Given the description of an element on the screen output the (x, y) to click on. 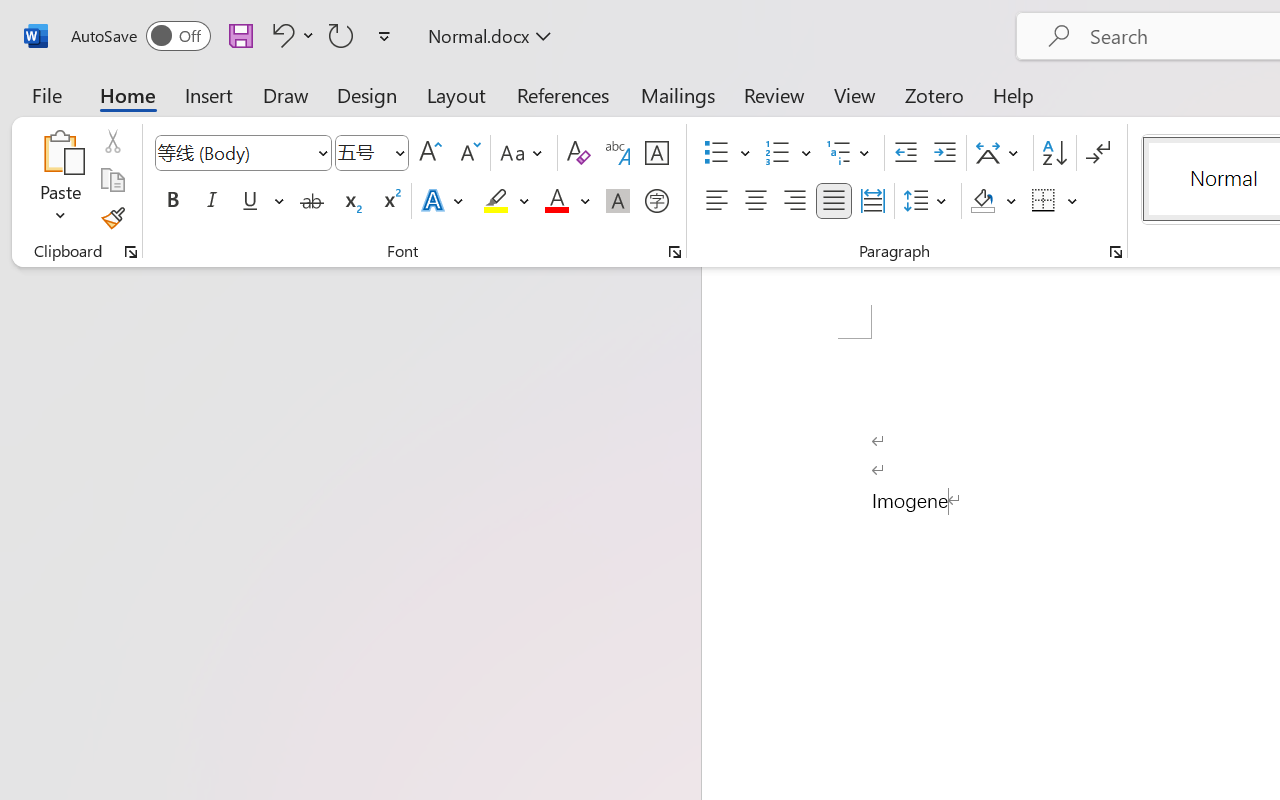
Text Highlight Color Yellow (495, 201)
Font Color (567, 201)
Line and Paragraph Spacing (927, 201)
Center (756, 201)
Copy (112, 179)
Subscript (350, 201)
Undo Style (280, 35)
Strikethrough (312, 201)
Shrink Font (468, 153)
Italic (212, 201)
